Given the description of an element on the screen output the (x, y) to click on. 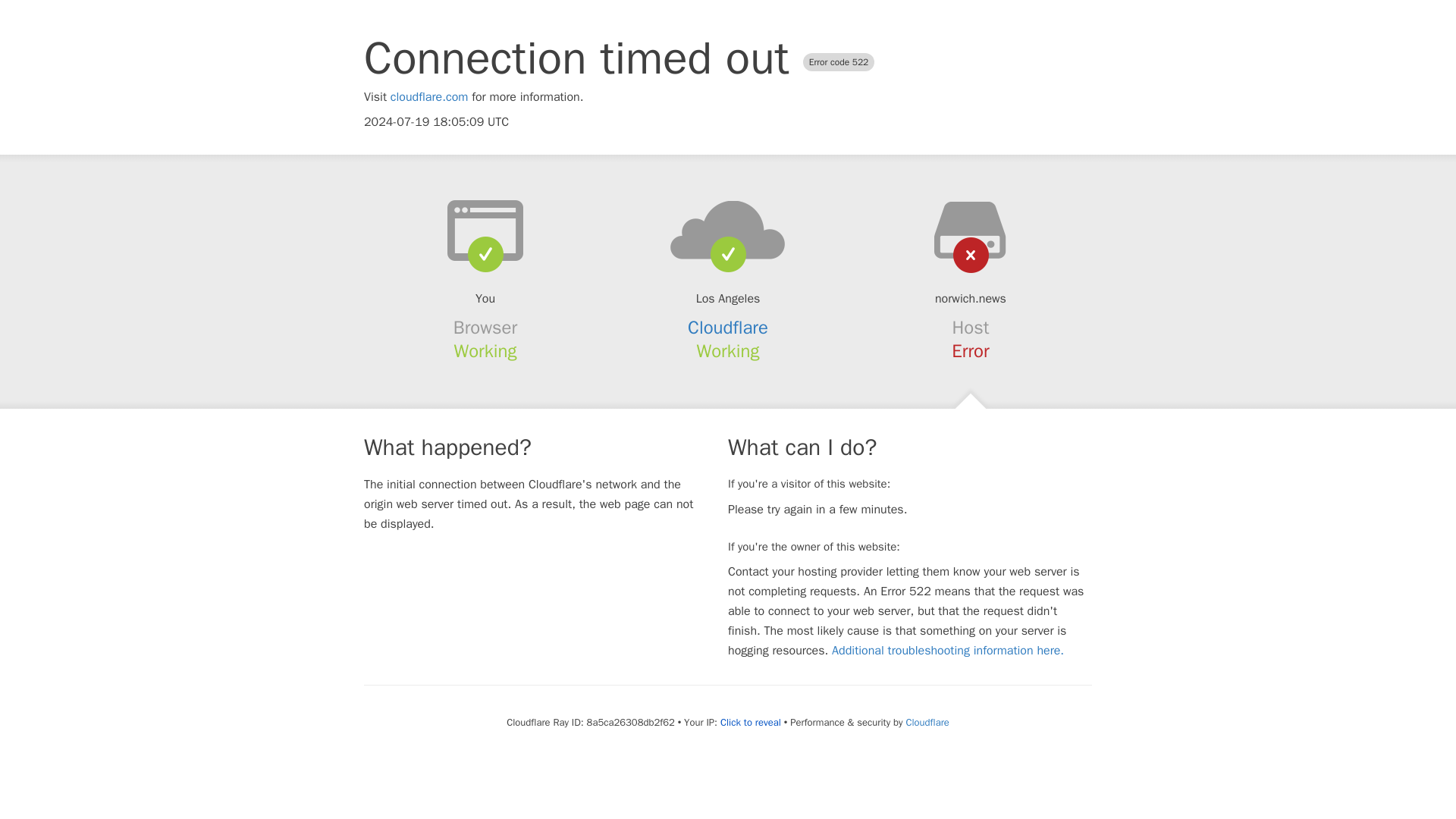
cloudflare.com (429, 96)
Additional troubleshooting information here. (947, 650)
Cloudflare (927, 721)
Click to reveal (750, 722)
Cloudflare (727, 327)
